Given the description of an element on the screen output the (x, y) to click on. 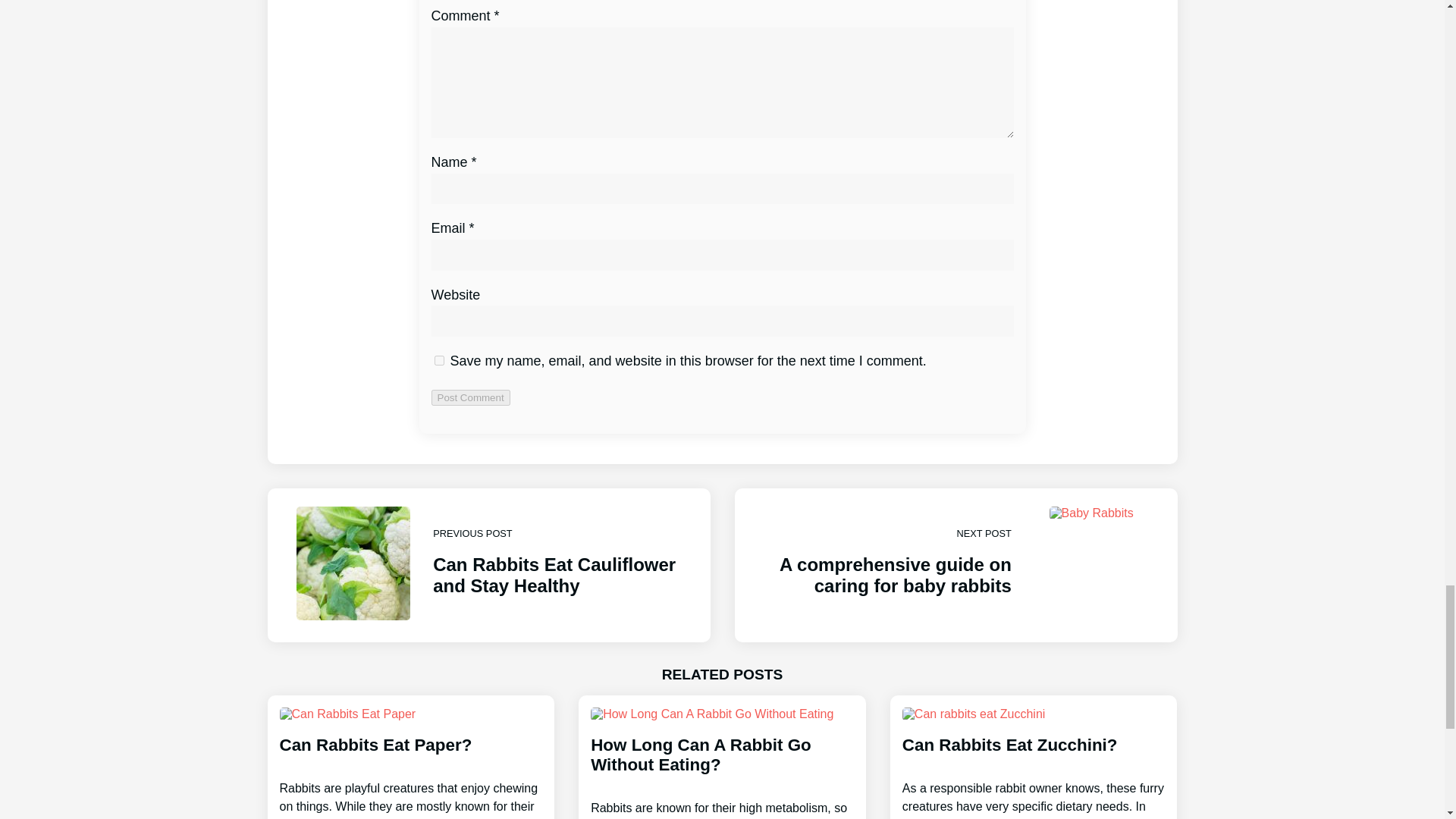
Can Rabbits Eat Zucchini? (1034, 763)
yes (438, 360)
How Long Can A Rabbit Go Without Eating? (722, 763)
Post Comment (954, 565)
Can Rabbits Eat Paper? (469, 397)
Post Comment (488, 565)
